Given the description of an element on the screen output the (x, y) to click on. 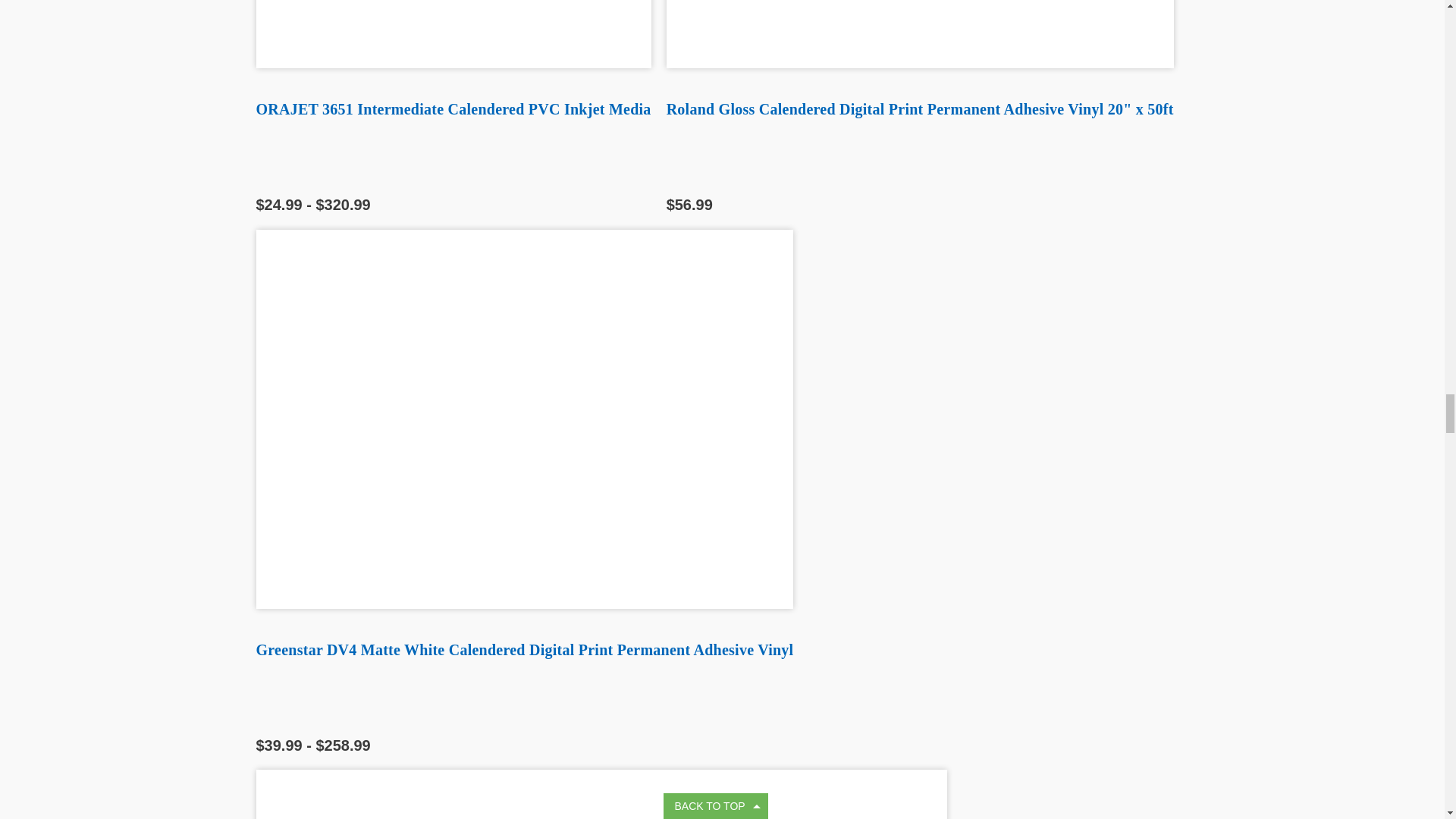
ORAJET 3651 Intermediate Calendered PVC Inkjet Media (453, 33)
